Given the description of an element on the screen output the (x, y) to click on. 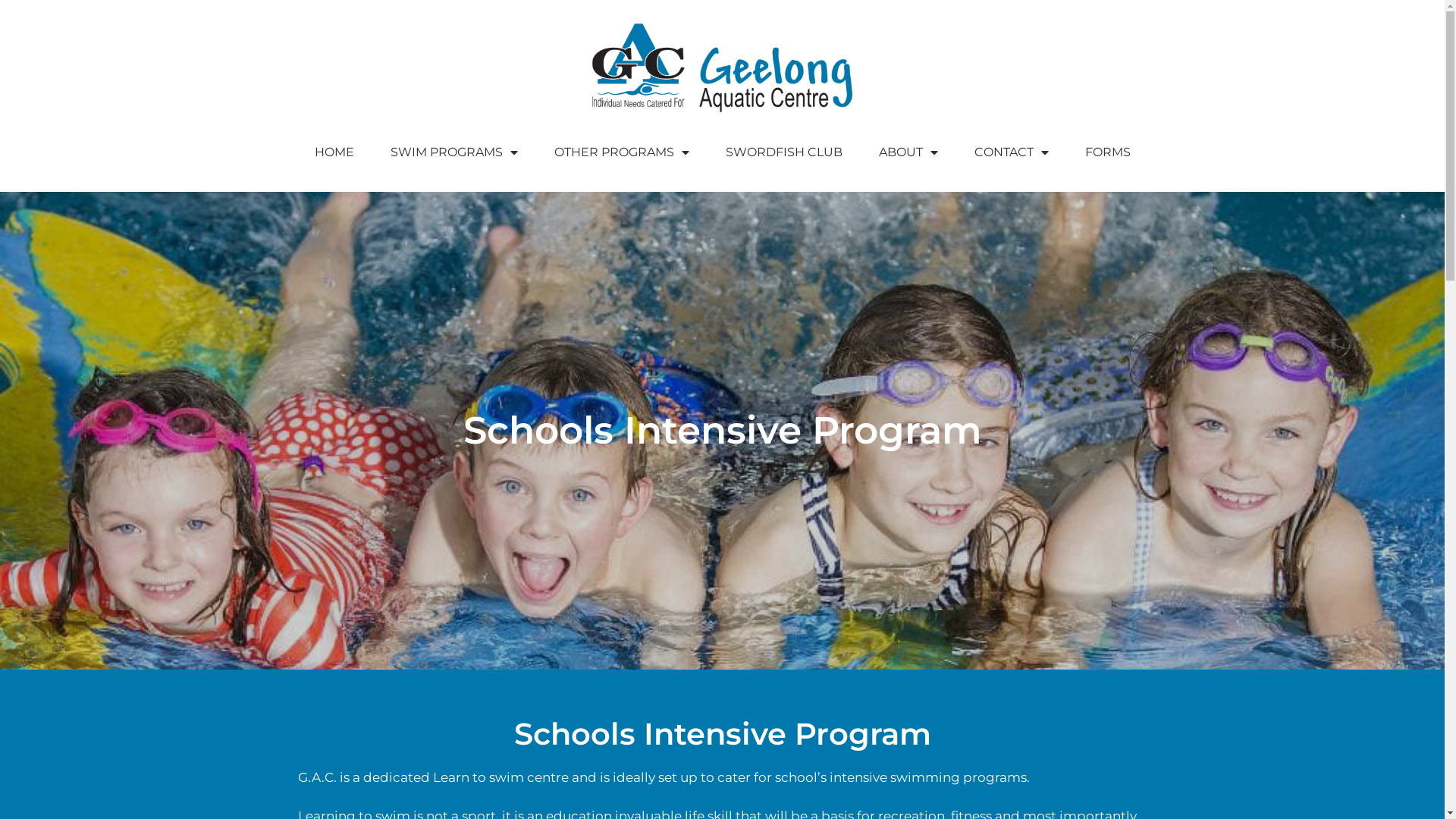
FORMS Element type: text (1107, 152)
SWIM PROGRAMS Element type: text (453, 152)
ABOUT Element type: text (907, 152)
SWORDFISH CLUB Element type: text (782, 152)
HOME Element type: text (333, 152)
CONTACT Element type: text (1010, 152)
OTHER PROGRAMS Element type: text (620, 152)
